Given the description of an element on the screen output the (x, y) to click on. 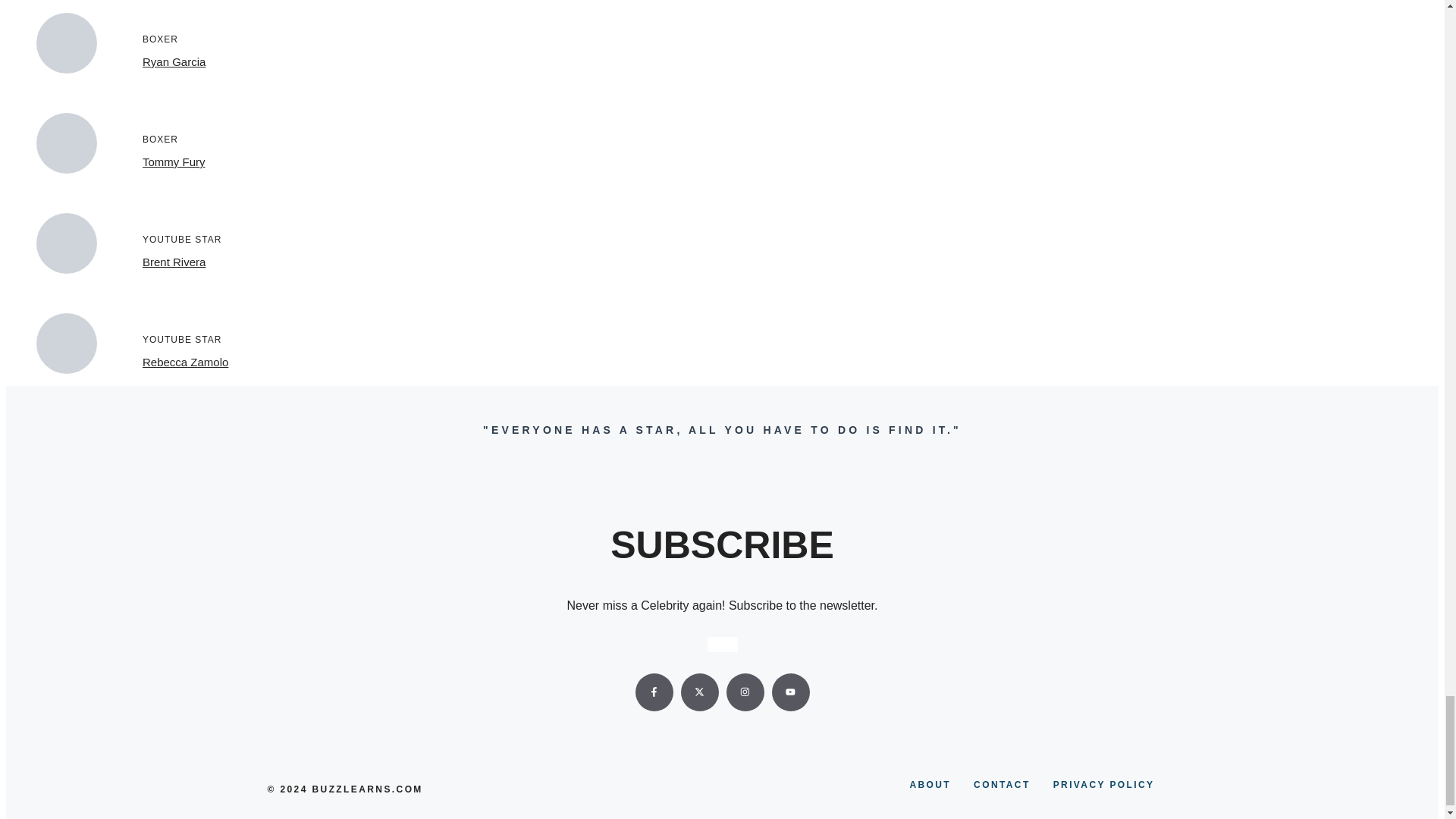
Ryan Garcia (173, 61)
Tommy Fury (173, 161)
